Given the description of an element on the screen output the (x, y) to click on. 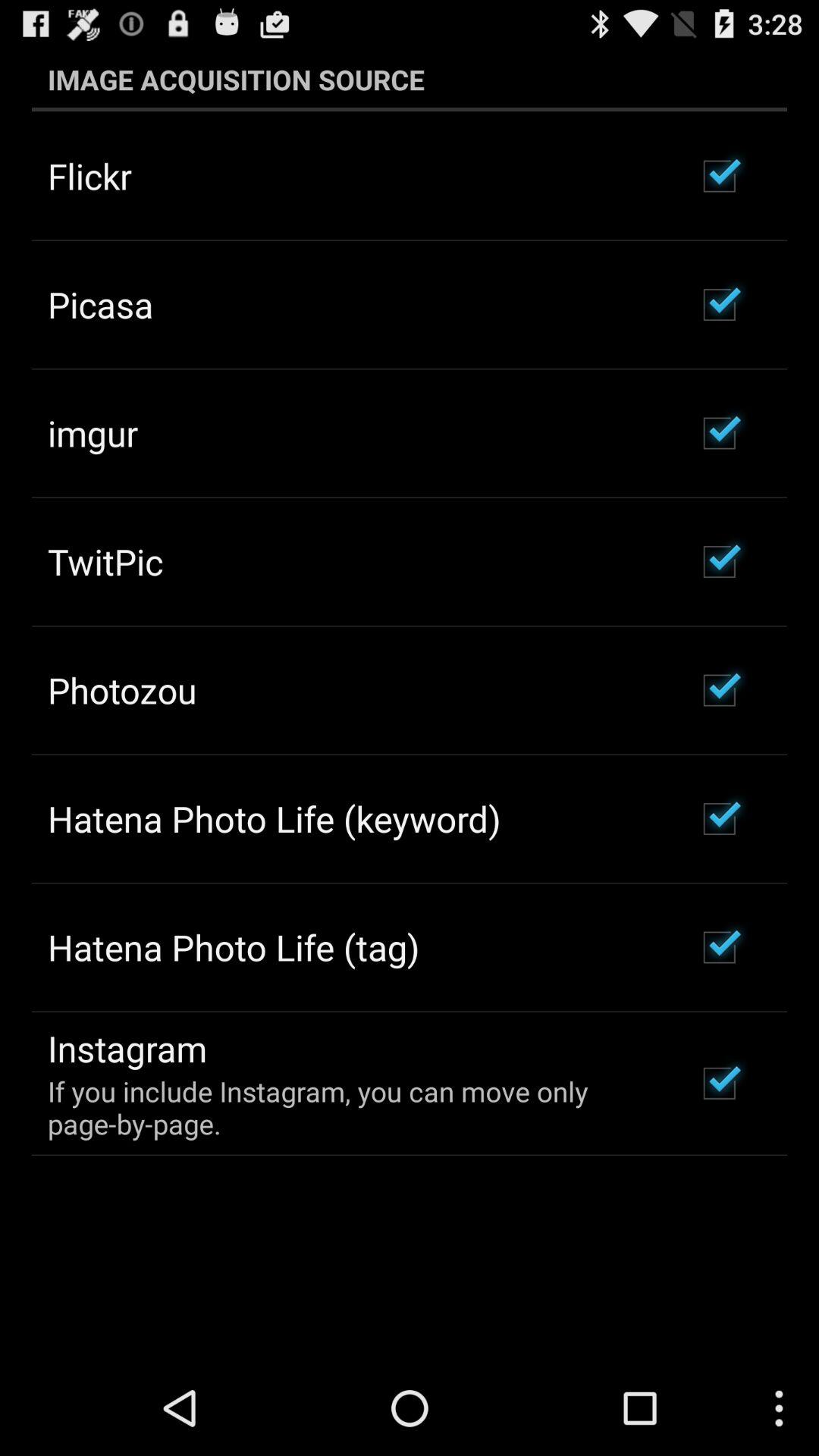
tap the icon above photozou (105, 561)
